Given the description of an element on the screen output the (x, y) to click on. 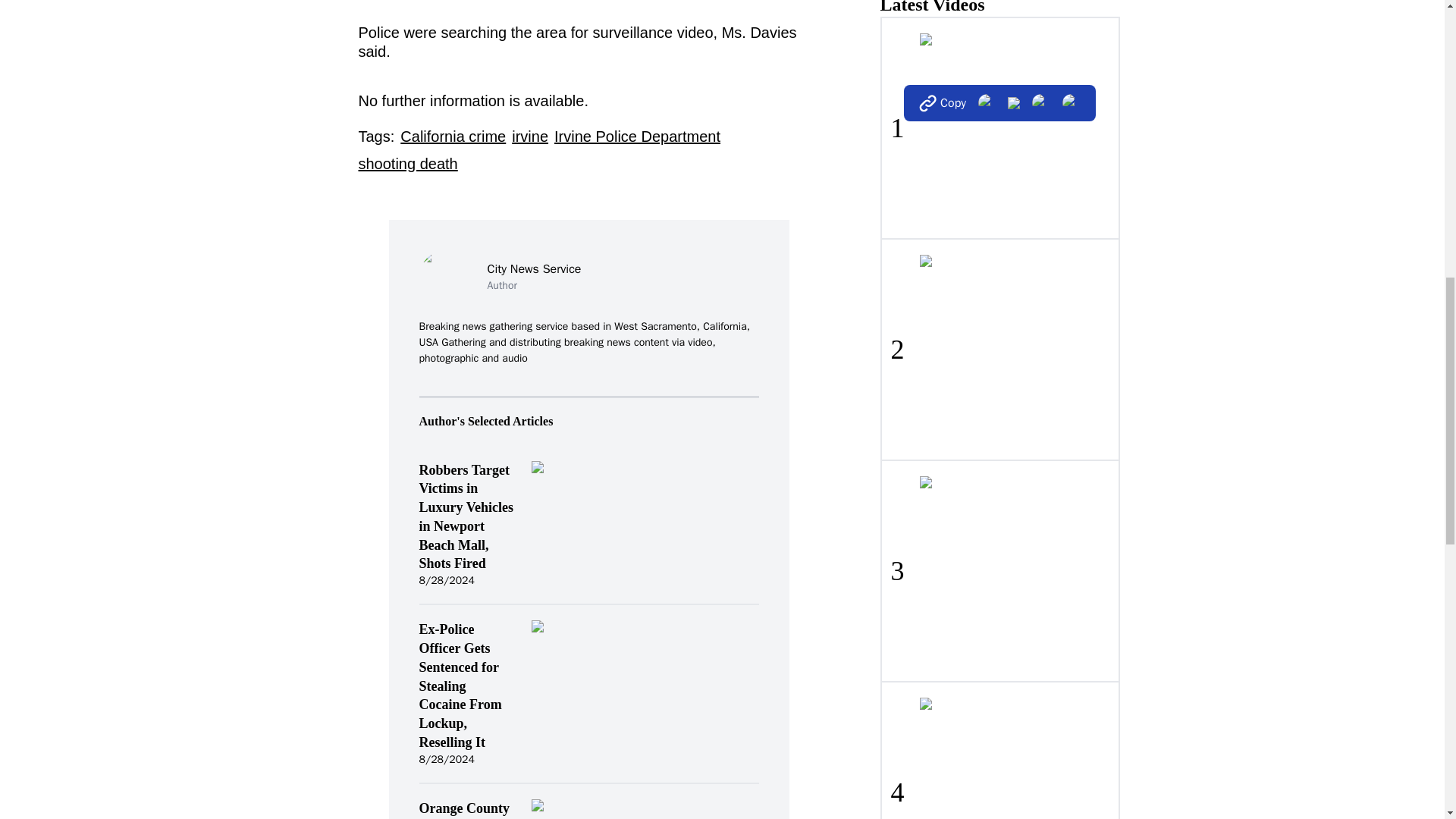
irvine (530, 136)
City News Service (533, 268)
2 (999, 348)
3 (999, 569)
Irvine Police Department (637, 136)
California crime (452, 136)
1 (999, 128)
4 (999, 749)
shooting death (407, 163)
